Given the description of an element on the screen output the (x, y) to click on. 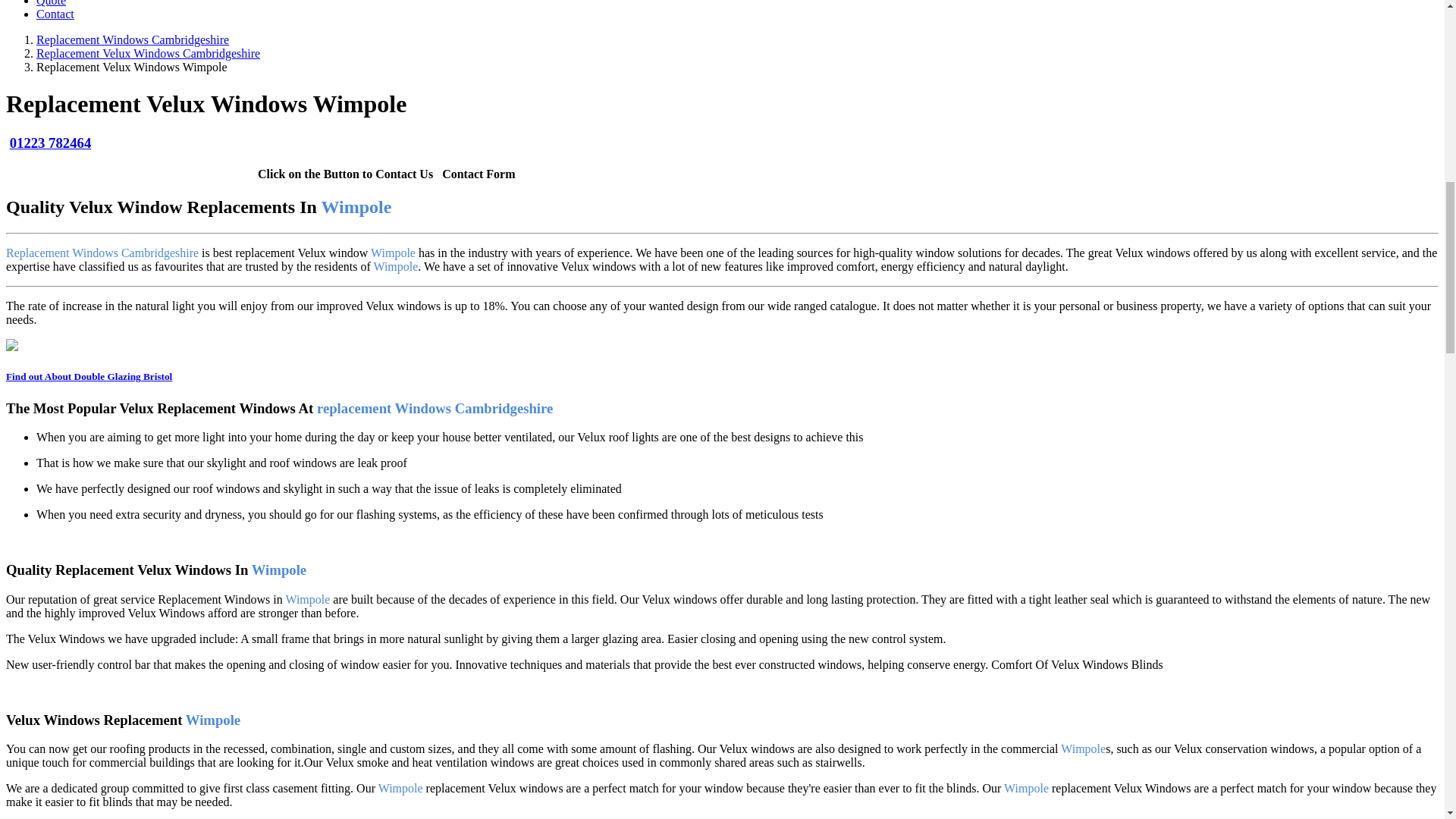
Replacement Windows Cambridgeshire (132, 39)
Quote (50, 3)
Contact (55, 13)
01223 782464 (50, 142)
Replacement Velux Windows Cambridgeshire (148, 52)
